Given the description of an element on the screen output the (x, y) to click on. 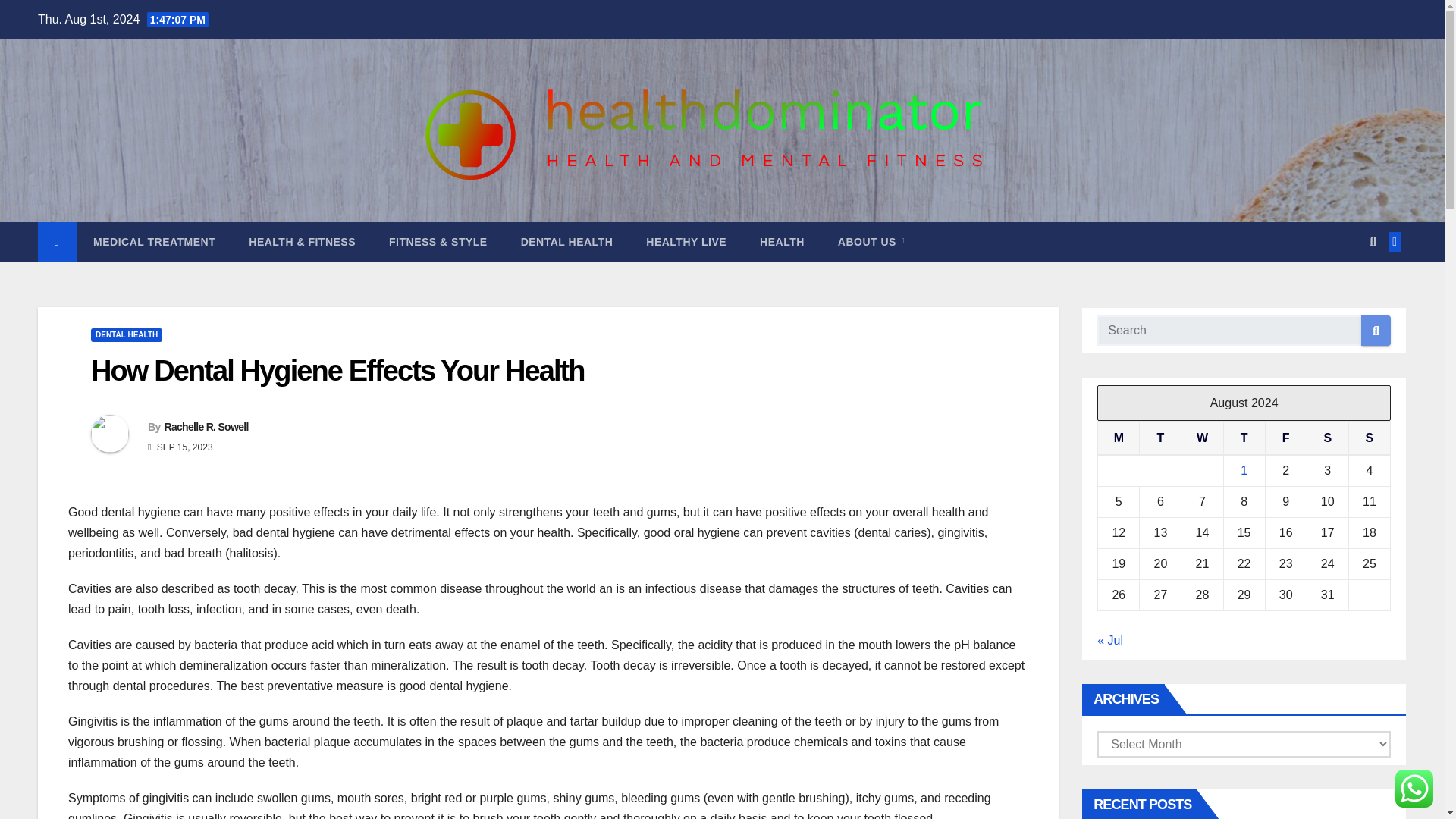
DENTAL HEALTH (566, 241)
Rachelle R. Sowell (205, 426)
MEDICAL TREATMENT (154, 241)
Health (781, 241)
HEALTHY LIVE (685, 241)
How Dental Hygiene Effects Your Health (337, 370)
Healthy Live (685, 241)
HEALTH (781, 241)
ABOUT US (871, 241)
Dental Health (566, 241)
Medical Treatment (154, 241)
Permalink to: How Dental Hygiene Effects Your Health (337, 370)
DENTAL HEALTH (125, 335)
About Us (871, 241)
